Given the description of an element on the screen output the (x, y) to click on. 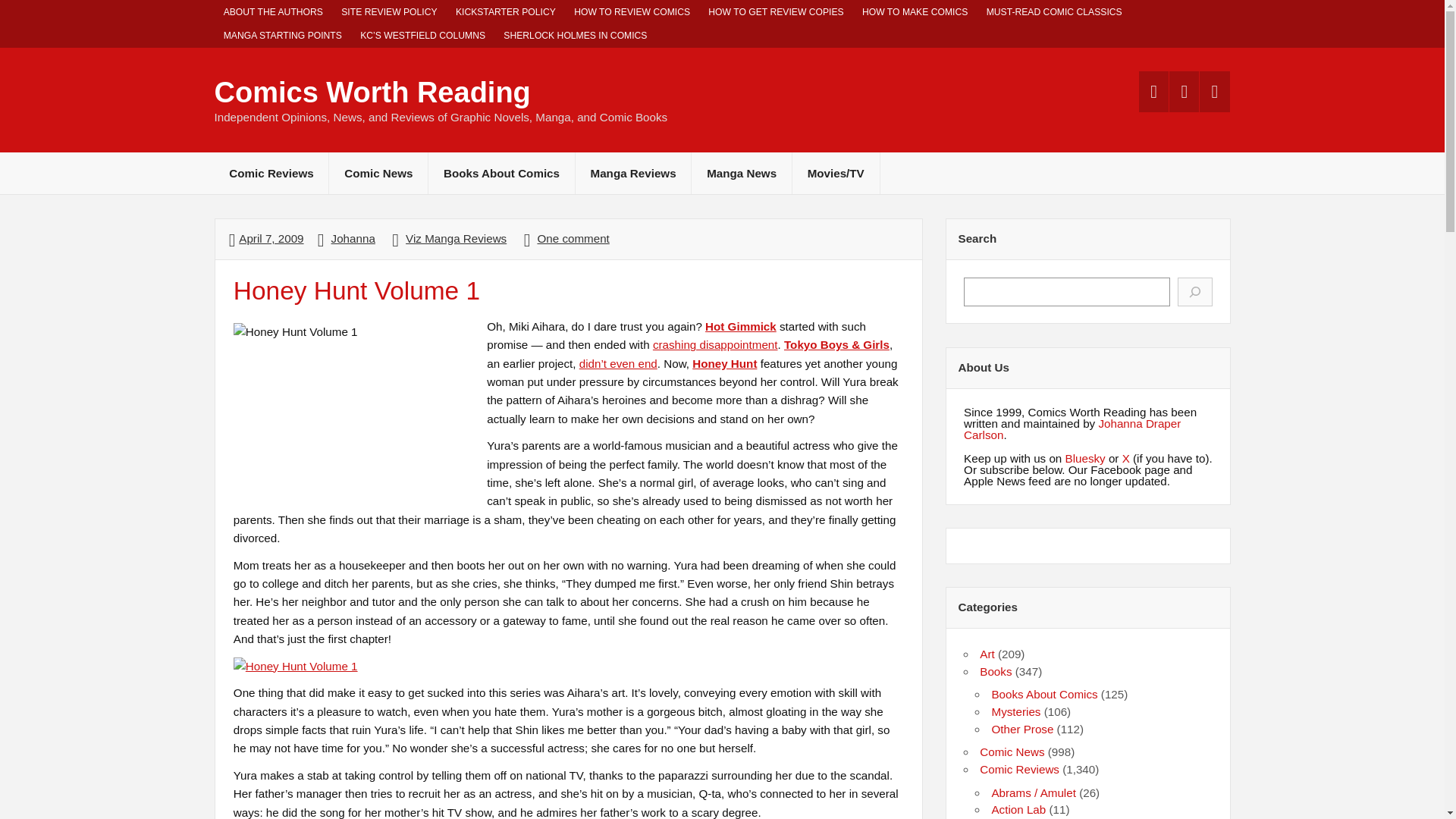
Bluesky (1085, 458)
Manga News (741, 173)
SHERLOCK HOLMES IN COMICS (575, 36)
Comic News (378, 173)
One comment (572, 237)
10:39 am (270, 237)
Manga Reviews (633, 173)
Johanna (353, 237)
Johanna Draper Carlson (1071, 428)
Comics Worth Reading (371, 92)
Viz Manga Reviews (456, 237)
View all posts by Johanna (353, 237)
ABOUT THE AUTHORS (272, 12)
April 7, 2009 (270, 237)
MANGA STARTING POINTS (282, 36)
